Given the description of an element on the screen output the (x, y) to click on. 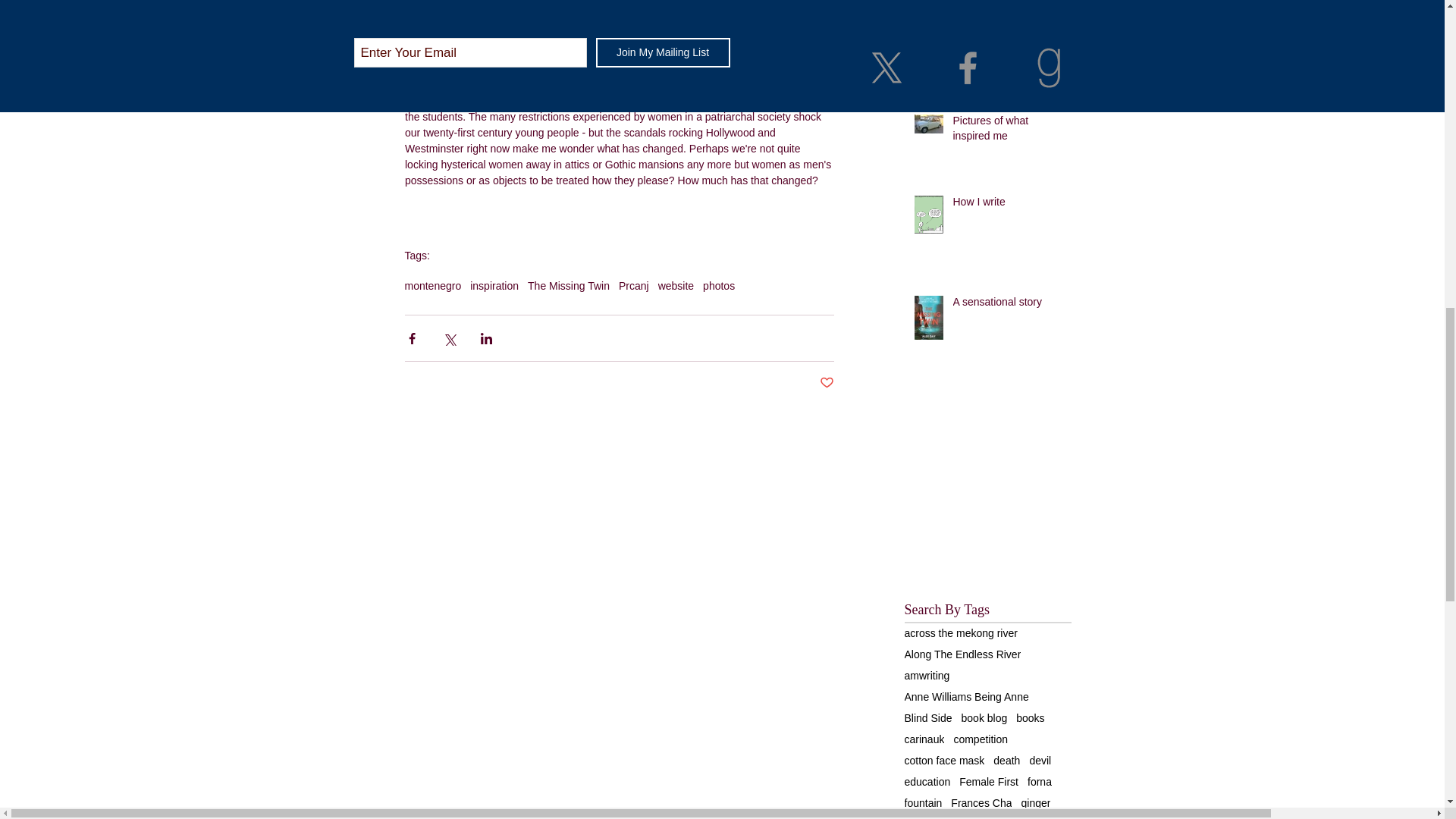
Anne Williams Being Anne (965, 696)
It's literature - but is it good for me? (1006, 22)
photos (719, 285)
cotton face mask (944, 760)
montenegro (432, 285)
website (676, 285)
book blog (983, 717)
Pictures of what inspired me (1006, 131)
Prcanj (633, 285)
Blind Side (928, 717)
